Given the description of an element on the screen output the (x, y) to click on. 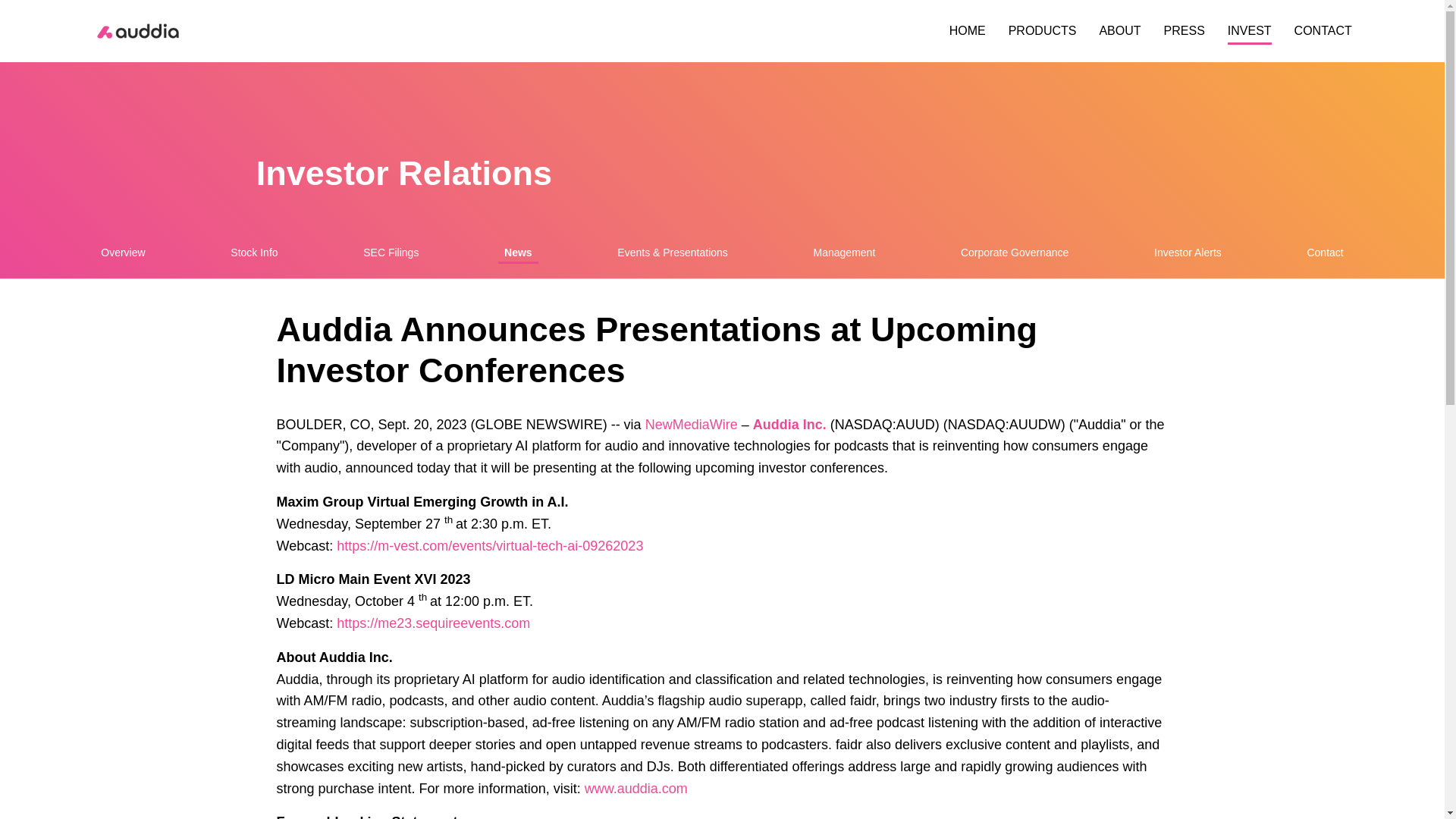
Corporate Governance (1014, 252)
INVEST (1249, 30)
Management (845, 252)
Stock Info (253, 252)
www.auddia.com (636, 788)
HOME (967, 30)
CONTACT (1323, 30)
Overview (122, 252)
ABOUT (1119, 30)
PRODUCTS (1043, 30)
